Given the description of an element on the screen output the (x, y) to click on. 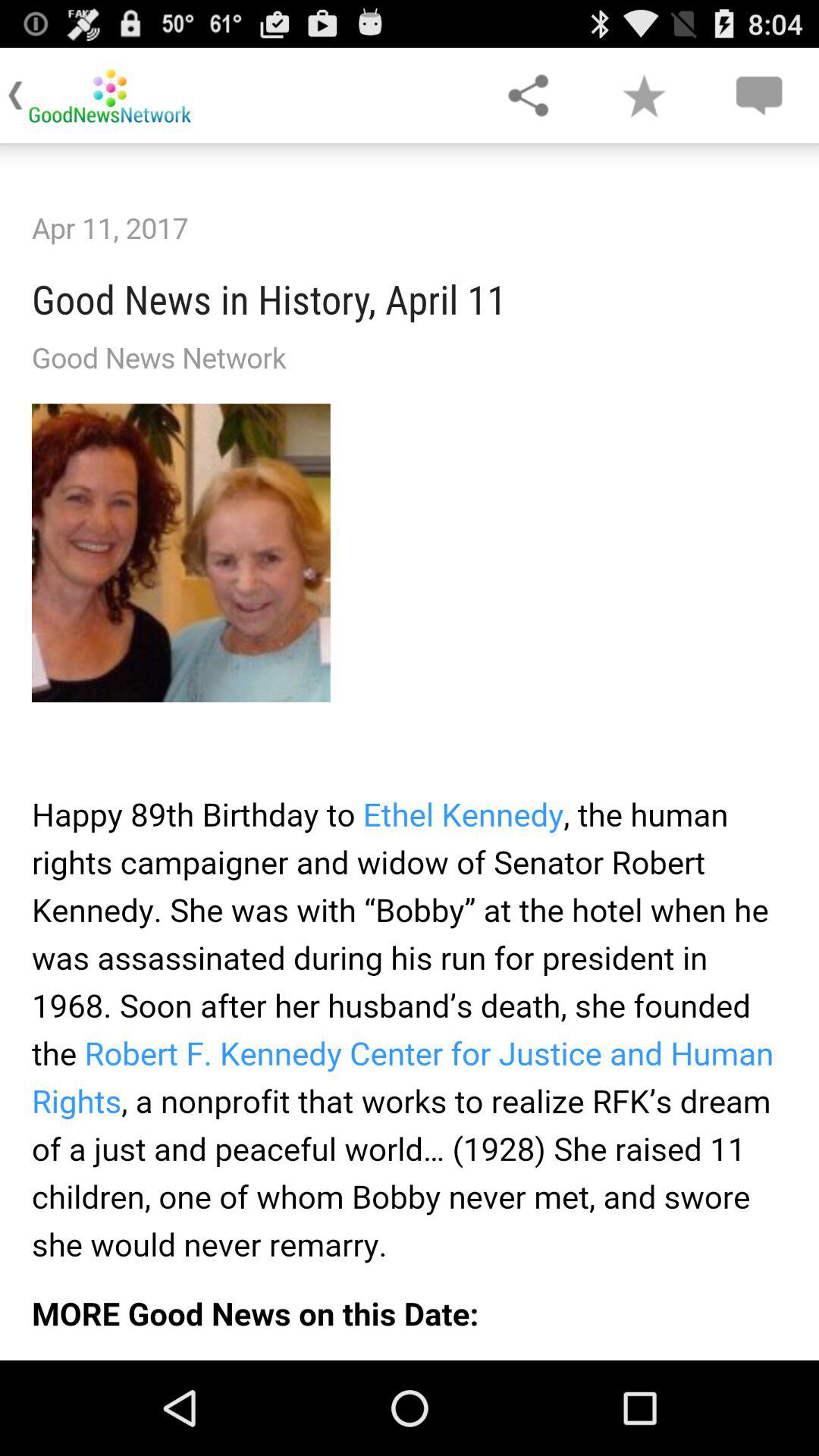
send message to share the article (758, 95)
